Given the description of an element on the screen output the (x, y) to click on. 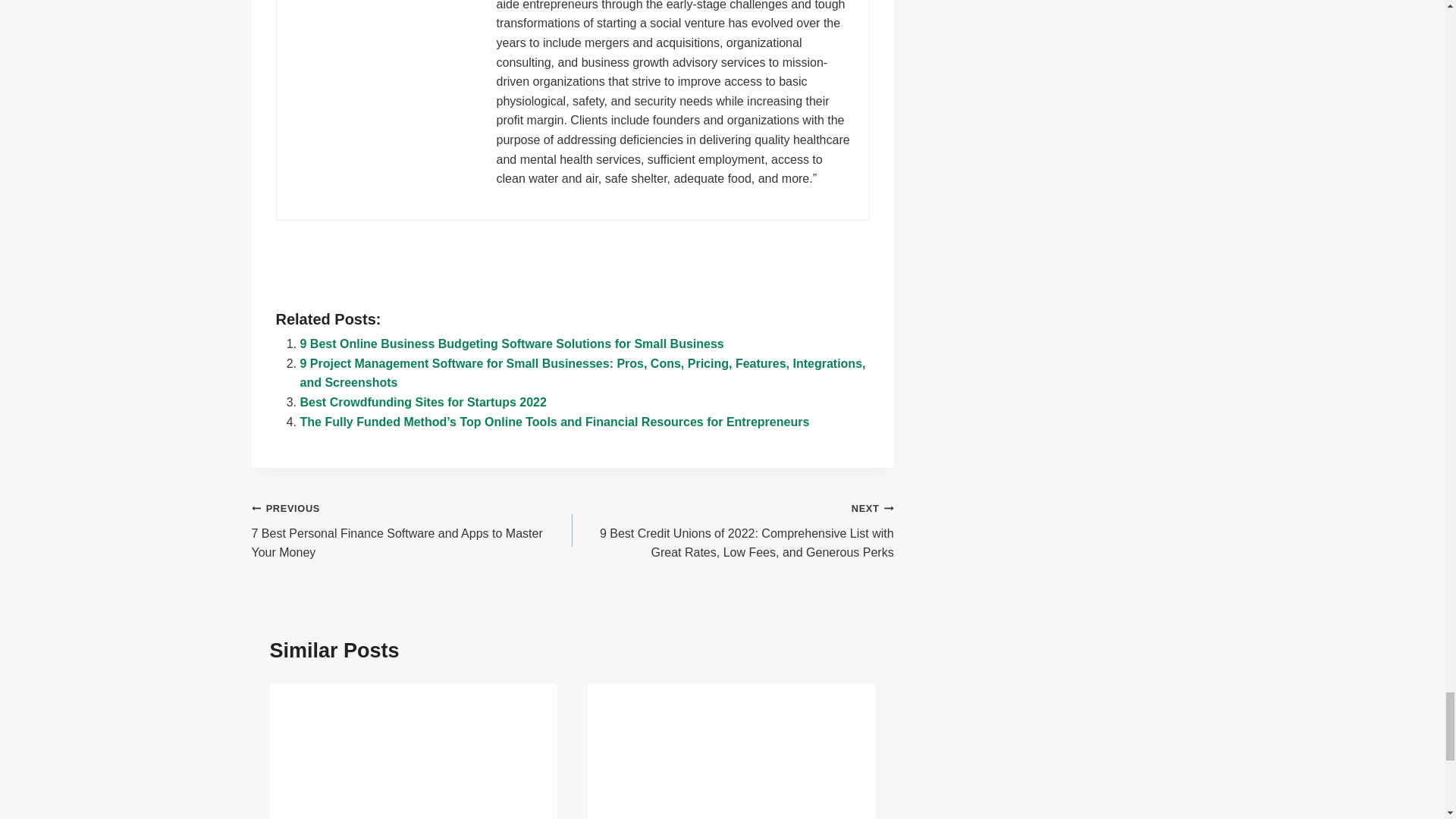
Best Crowdfunding Sites for Startups 2022 (423, 401)
